Given the description of an element on the screen output the (x, y) to click on. 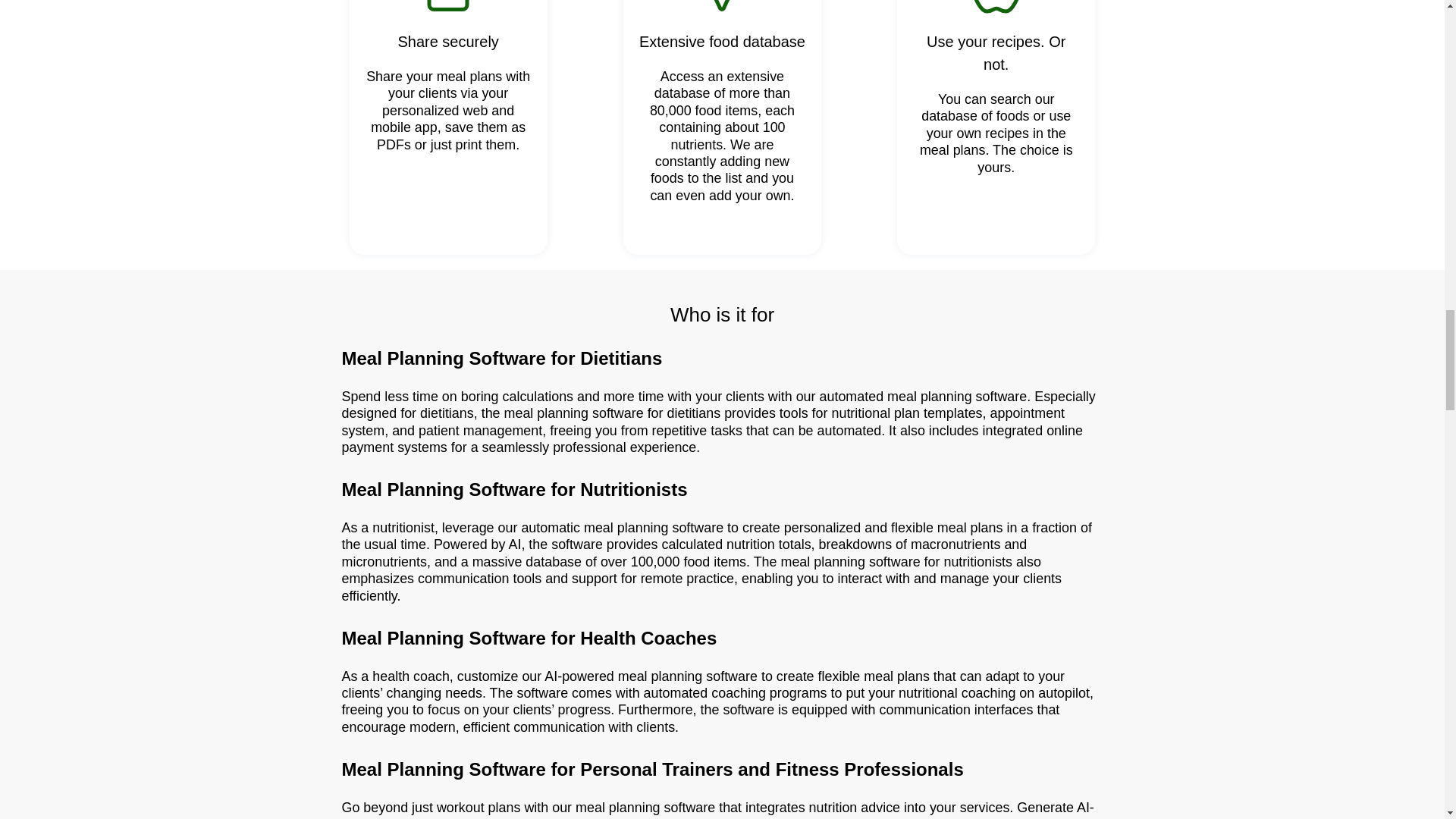
Nutrition (996, 7)
Share (448, 7)
Pizza (721, 7)
